Given the description of an element on the screen output the (x, y) to click on. 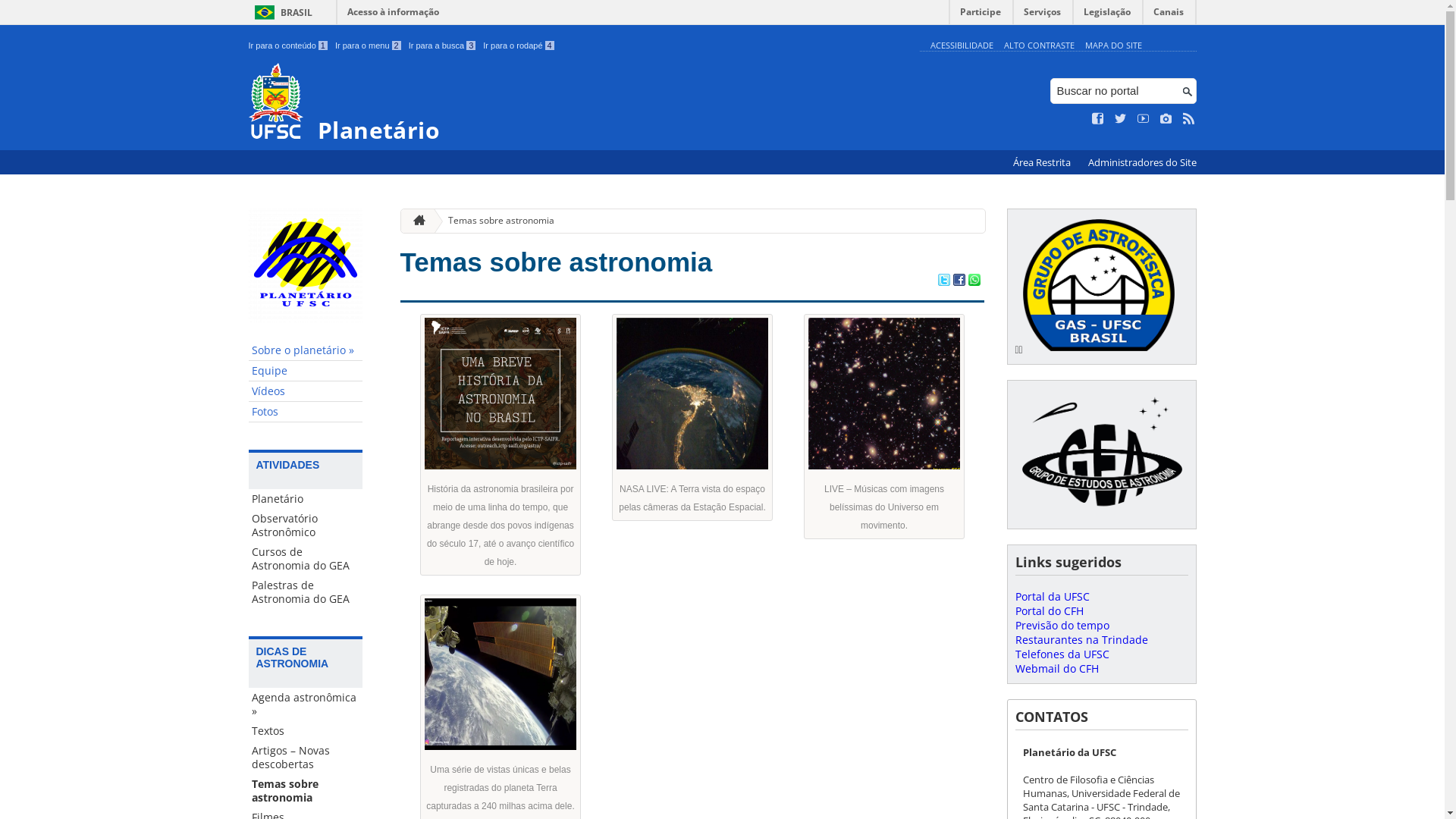
Cursos de Astronomia do GEA Element type: text (305, 558)
Compartilhar no WhatsApp Element type: hover (973, 280)
Temas sobre astronomia Element type: text (556, 261)
Portal da UFSC Element type: text (1051, 596)
Telefones da UFSC Element type: text (1061, 653)
ACESSIBILIDADE Element type: text (960, 44)
ALTO CONTRASTE Element type: text (1039, 44)
Ir para o menu 2 Element type: text (368, 45)
Restaurantes na Trindade Element type: text (1080, 639)
Curta no Facebook Element type: hover (1098, 118)
Fotos Element type: text (305, 411)
Palestras de Astronomia do GEA Element type: text (305, 591)
Temas sobre astronomia Element type: text (494, 220)
Temas sobre astronomia Element type: text (305, 790)
Participe Element type: text (980, 15)
Canais Element type: text (1169, 15)
Webmail do CFH Element type: text (1056, 668)
BRASIL Element type: text (280, 12)
Veja no Instagram Element type: hover (1166, 118)
Administradores do Site Element type: text (1141, 162)
Portal do CFH Element type: text (1048, 610)
Ir para a busca 3 Element type: text (442, 45)
Compartilhar no Twitter Element type: hover (943, 280)
Equipe Element type: text (305, 370)
Textos Element type: text (305, 730)
Siga no Twitter Element type: hover (1120, 118)
Compartilhar no Facebook Element type: hover (958, 280)
MAPA DO SITE Element type: text (1112, 44)
